Given the description of an element on the screen output the (x, y) to click on. 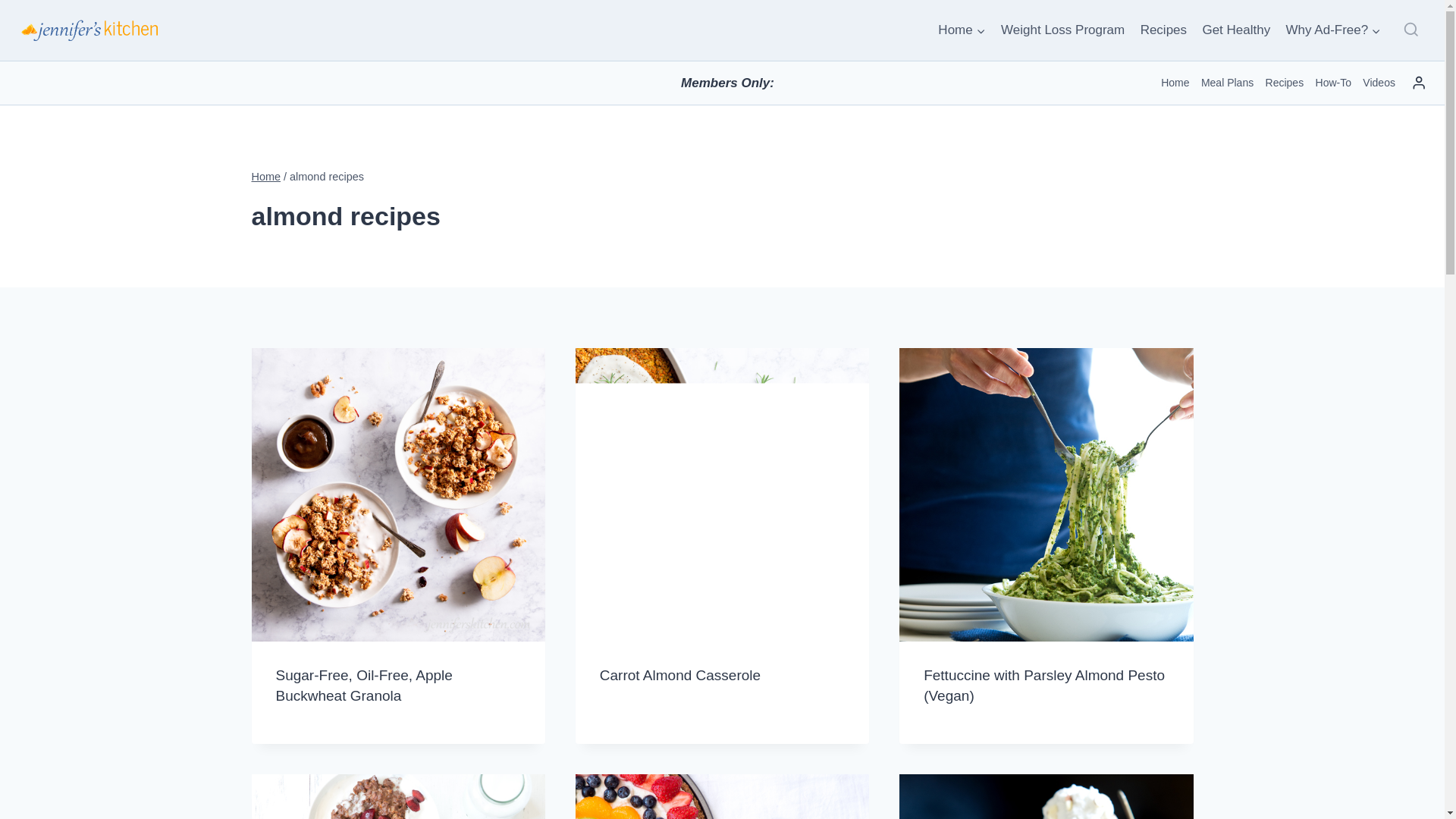
Why Ad-Free? (1333, 30)
Home (1174, 82)
Recipes (1283, 82)
Videos (1378, 82)
Sugar-Free, Oil-Free, Apple Buckwheat Granola (364, 685)
How-To (1332, 82)
Recipes (1162, 30)
Carrot Almond Casserole (679, 675)
Weight Loss Program (1062, 30)
Meal Plans (1227, 82)
